Given the description of an element on the screen output the (x, y) to click on. 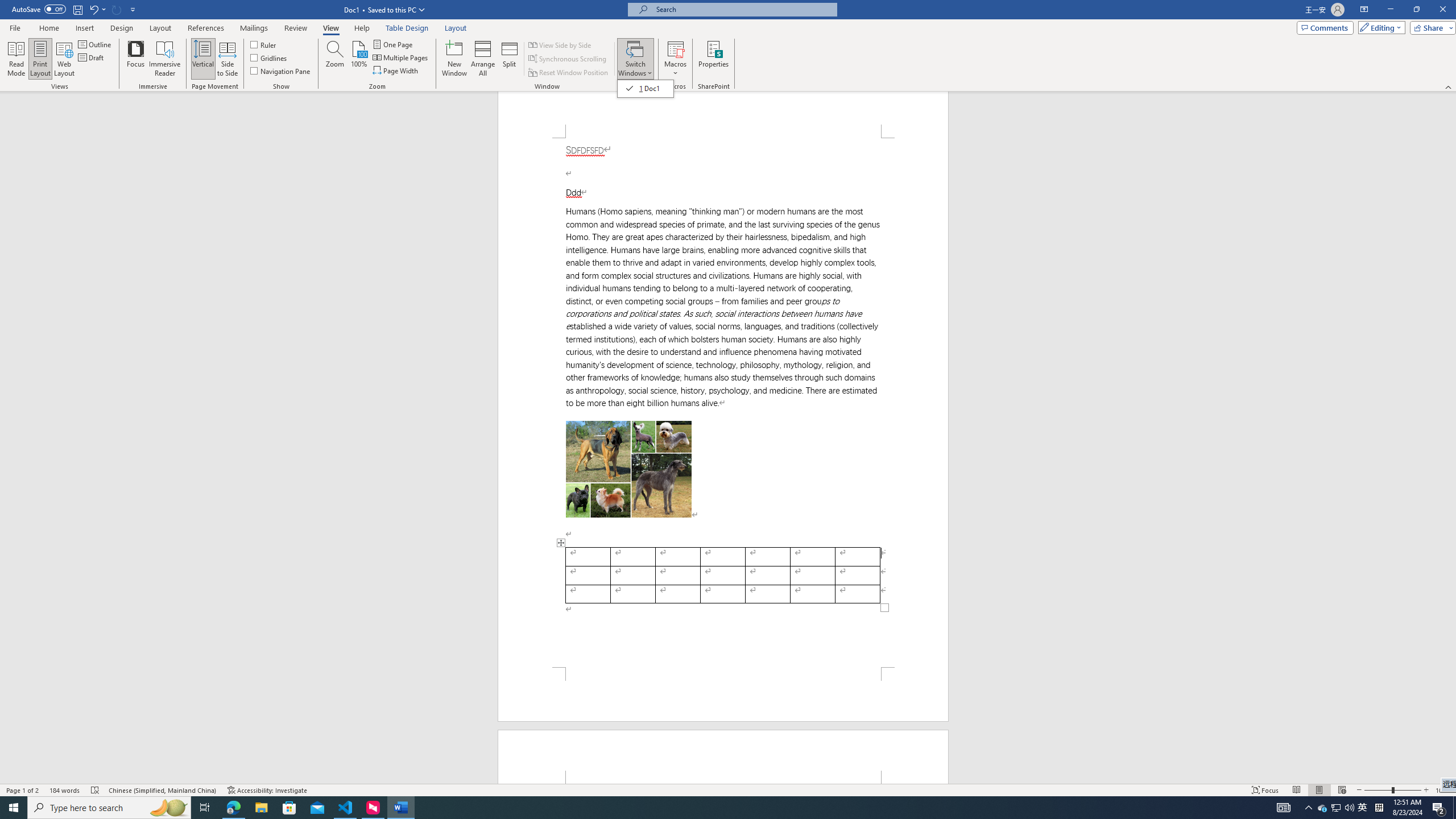
Web Layout (1322, 807)
Zoom... (63, 58)
Restore Down (334, 58)
Quick Access Toolbar (1416, 9)
Close (74, 9)
Vertical (1442, 9)
Page Number Page 1 of 2 (202, 58)
Task View (22, 790)
